Given the description of an element on the screen output the (x, y) to click on. 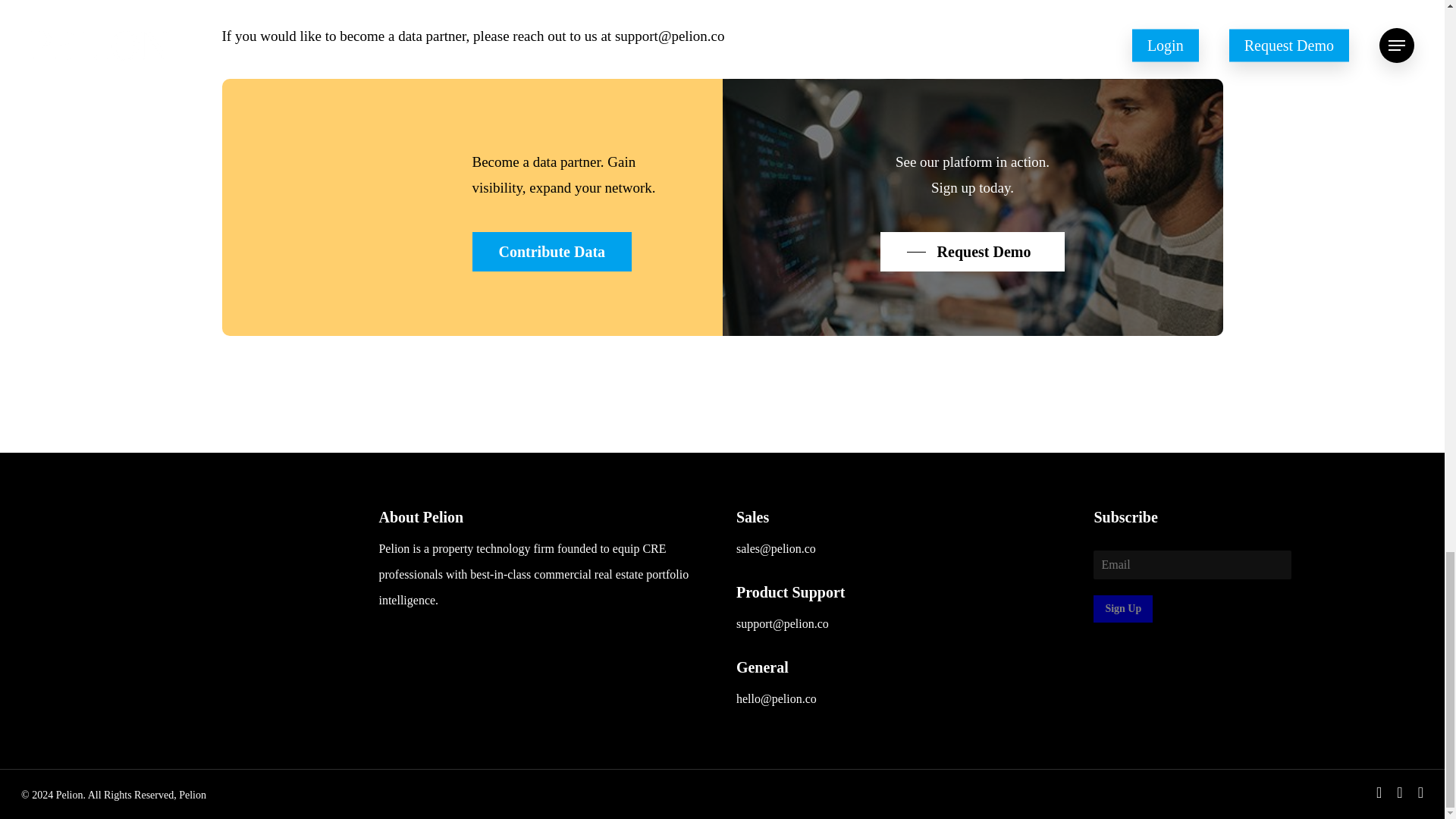
Sign Up (1123, 608)
Contribute Data (552, 251)
Request Demo (973, 251)
